Given the description of an element on the screen output the (x, y) to click on. 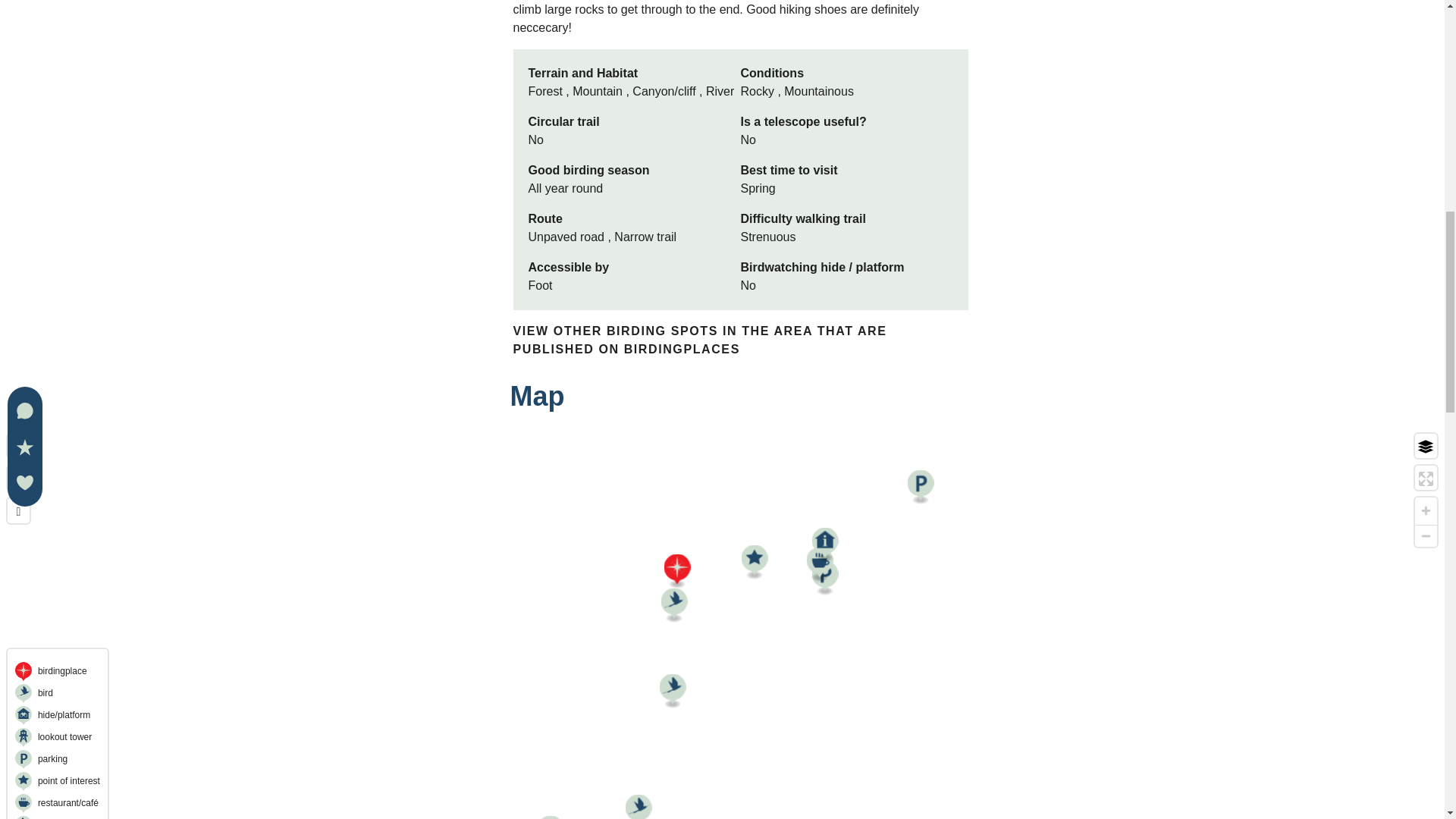
refresh page (18, 512)
Zoom out (1426, 535)
info (18, 479)
Enter fullscreen (1426, 478)
Zoom in (1426, 510)
i (18, 479)
Find my location (18, 446)
